Given the description of an element on the screen output the (x, y) to click on. 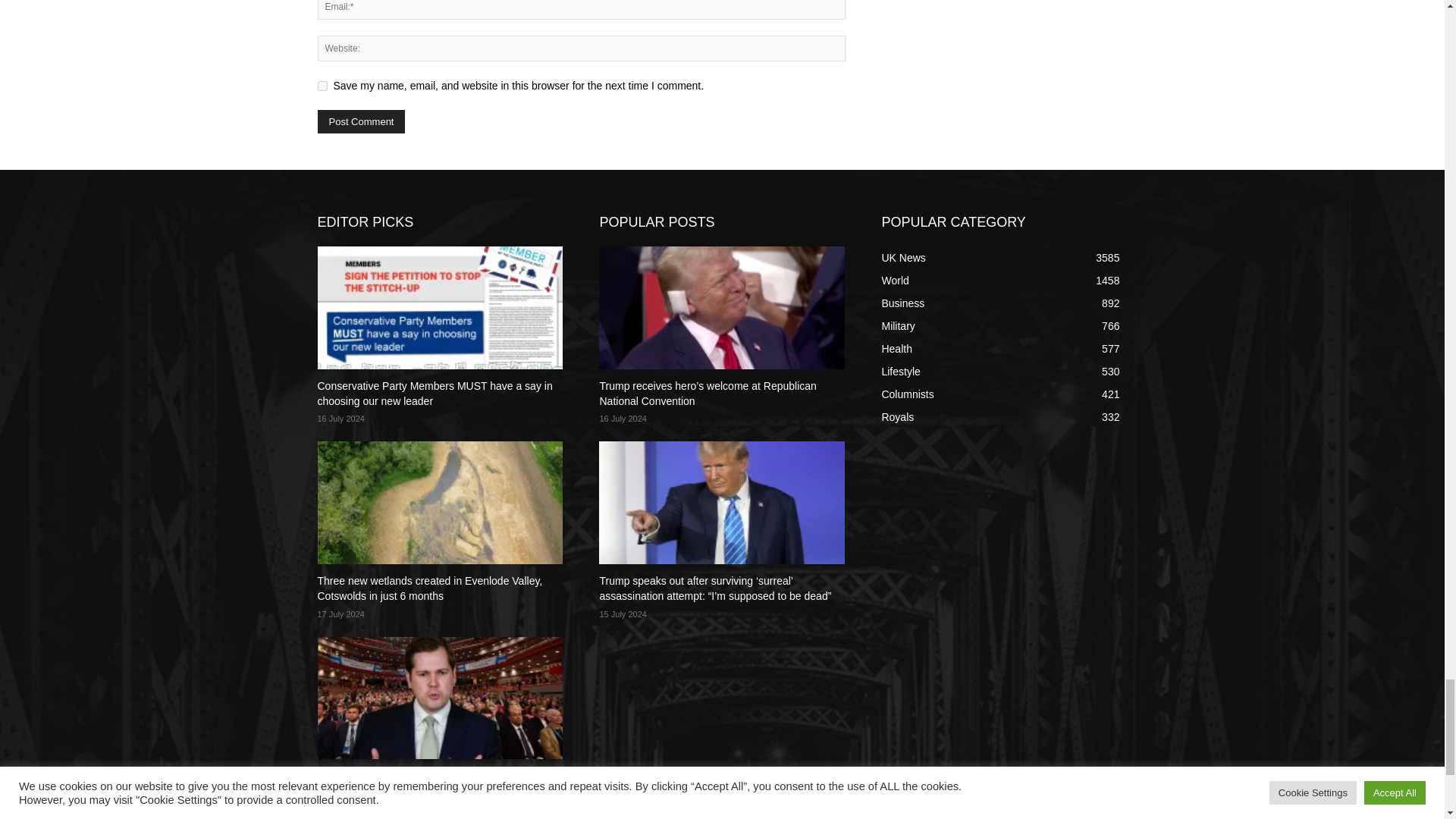
Post Comment (360, 121)
yes (321, 85)
